Given the description of an element on the screen output the (x, y) to click on. 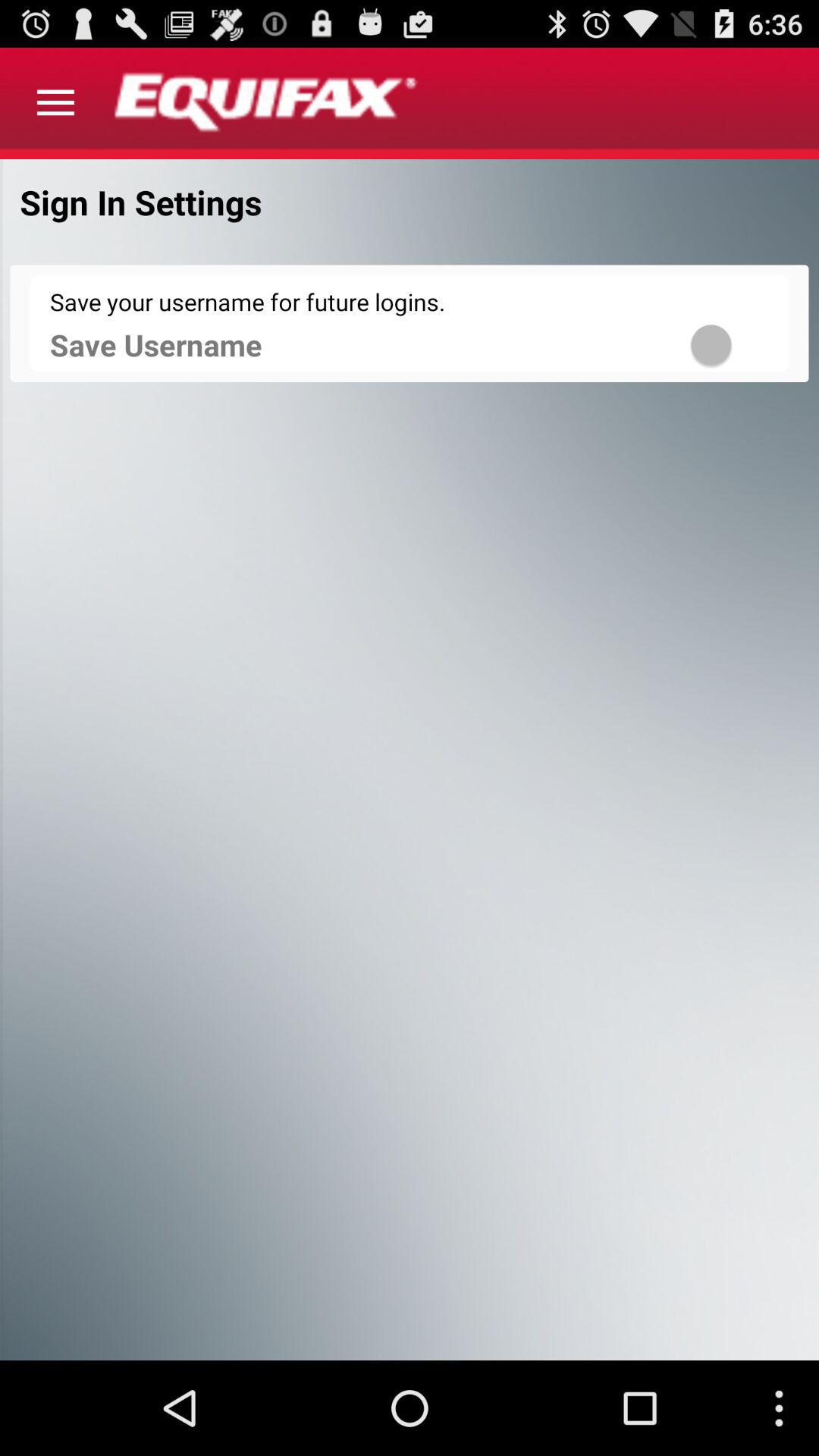
save username (731, 344)
